Given the description of an element on the screen output the (x, y) to click on. 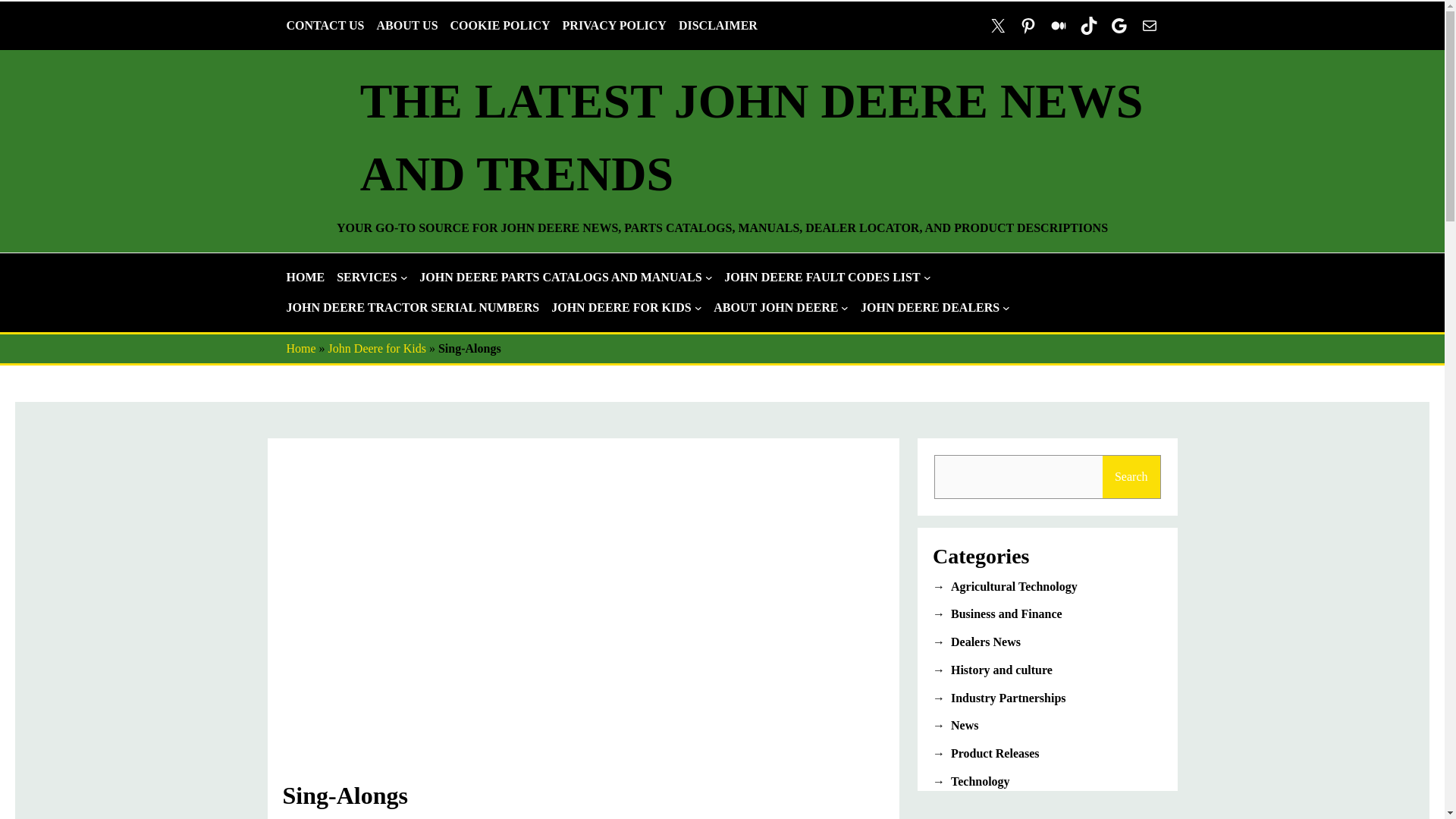
THE LATEST JOHN DEERE NEWS AND TRENDS (750, 137)
JOHN DEERE PARTS CATALOGS AND MANUALS (560, 277)
Google (1118, 25)
X (997, 25)
HOME (305, 277)
DISCLAIMER (717, 25)
Medium (1058, 25)
TikTok (1088, 25)
Pinterest (1027, 25)
ABOUT US (406, 25)
Mail (1149, 25)
CONTACT US (325, 25)
SERVICES (366, 277)
COOKIE POLICY (499, 25)
